Given the description of an element on the screen output the (x, y) to click on. 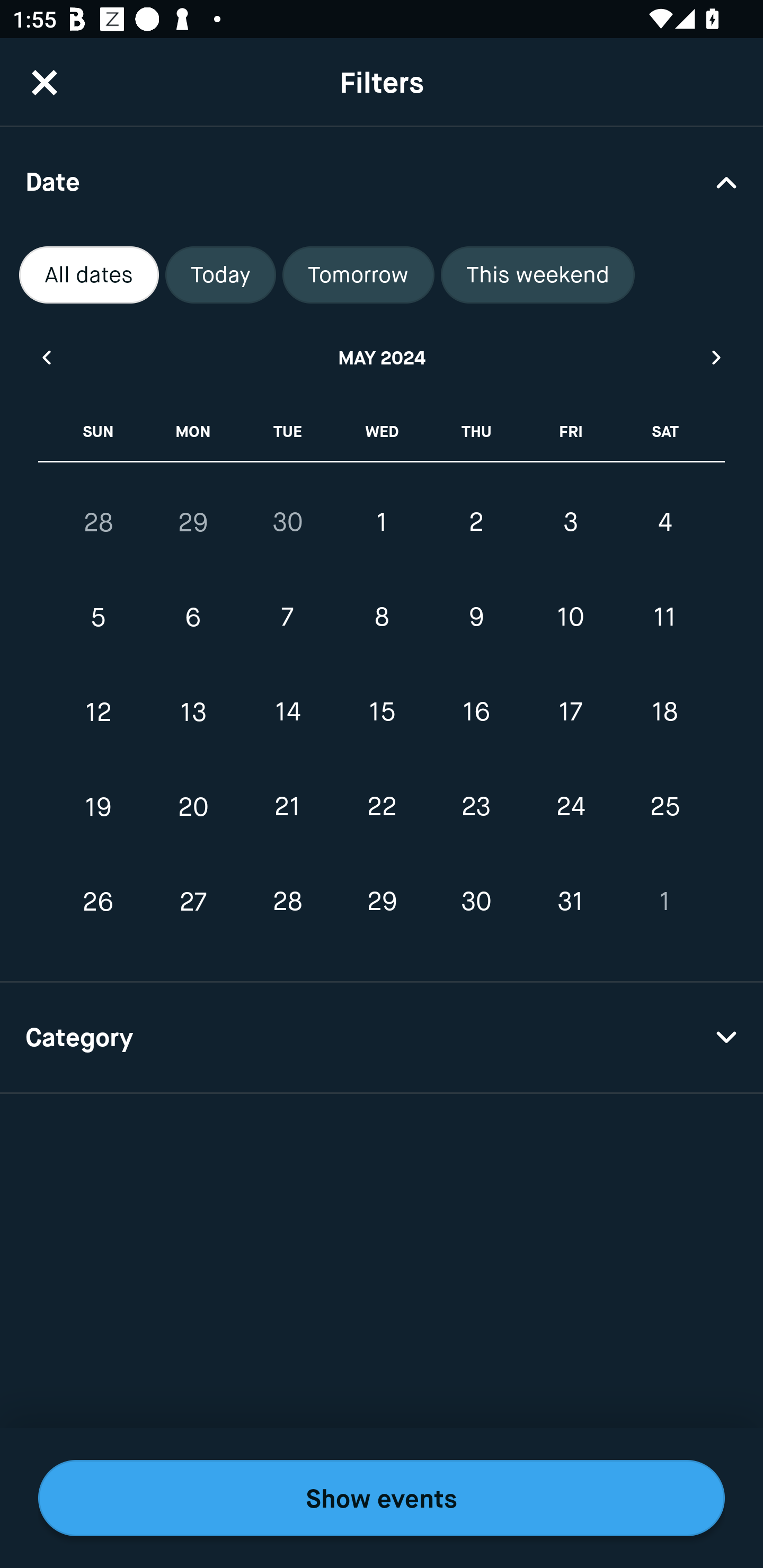
CloseButton (44, 82)
Date Drop Down Arrow (381, 181)
All dates (88, 274)
Today (220, 274)
Tomorrow (358, 274)
This weekend (537, 274)
Previous (45, 357)
Next (717, 357)
28 (98, 522)
29 (192, 522)
30 (287, 522)
1 (381, 522)
2 (475, 522)
3 (570, 522)
4 (664, 522)
5 (98, 617)
6 (192, 617)
7 (287, 617)
8 (381, 617)
9 (475, 617)
10 (570, 617)
11 (664, 617)
12 (98, 711)
13 (192, 711)
14 (287, 711)
15 (381, 711)
16 (475, 711)
17 (570, 711)
18 (664, 711)
19 (98, 806)
20 (192, 806)
21 (287, 806)
22 (381, 806)
23 (475, 806)
24 (570, 806)
25 (664, 806)
26 (98, 901)
27 (192, 901)
28 (287, 901)
29 (381, 901)
30 (475, 901)
31 (570, 901)
1 (664, 901)
Category Drop Down Arrow (381, 1038)
Show events (381, 1497)
